Given the description of an element on the screen output the (x, y) to click on. 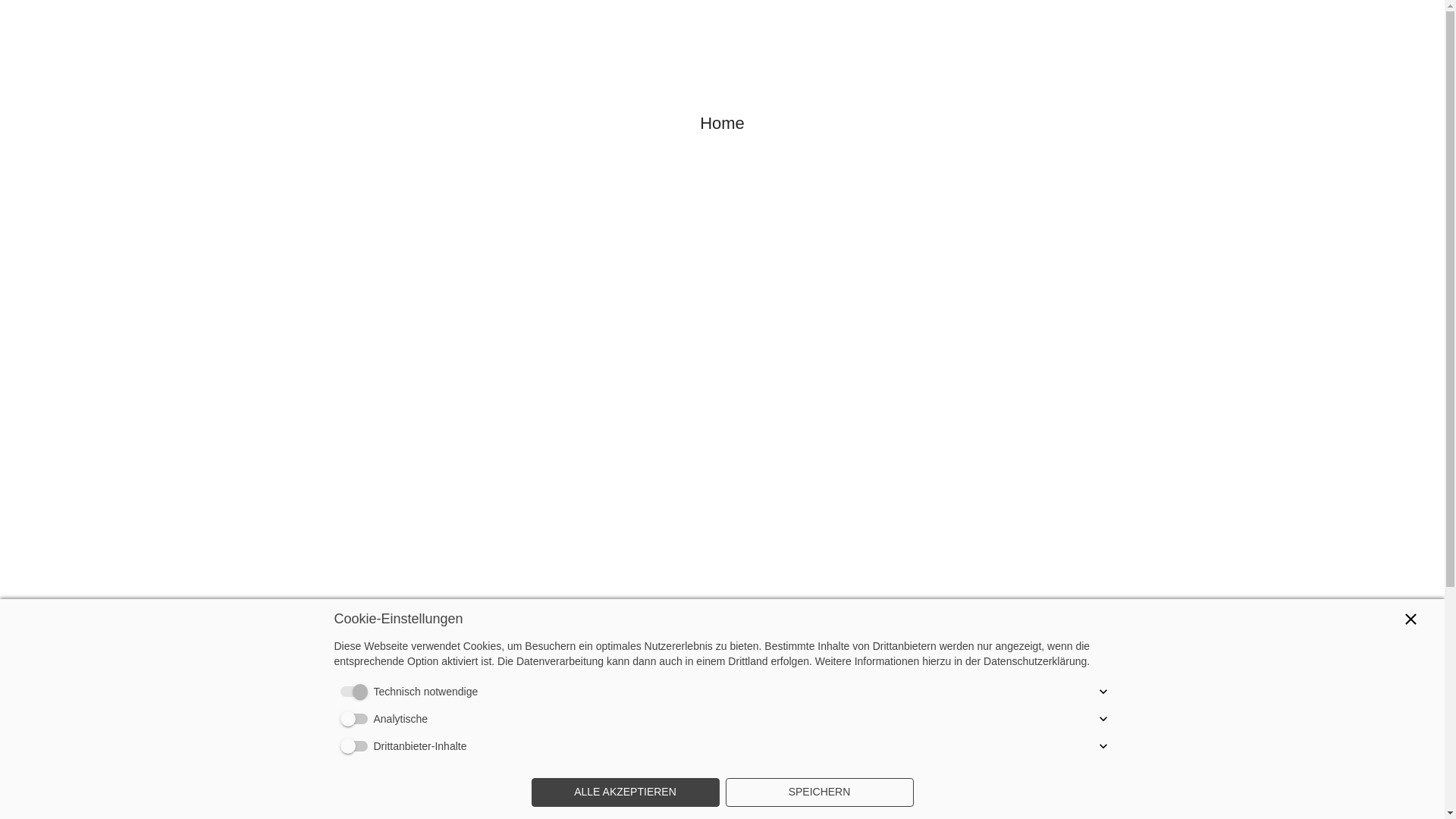
SPEICHERN Element type: text (818, 792)
Home Element type: text (721, 123)
ALLE AKZEPTIEREN Element type: text (624, 792)
